Given the description of an element on the screen output the (x, y) to click on. 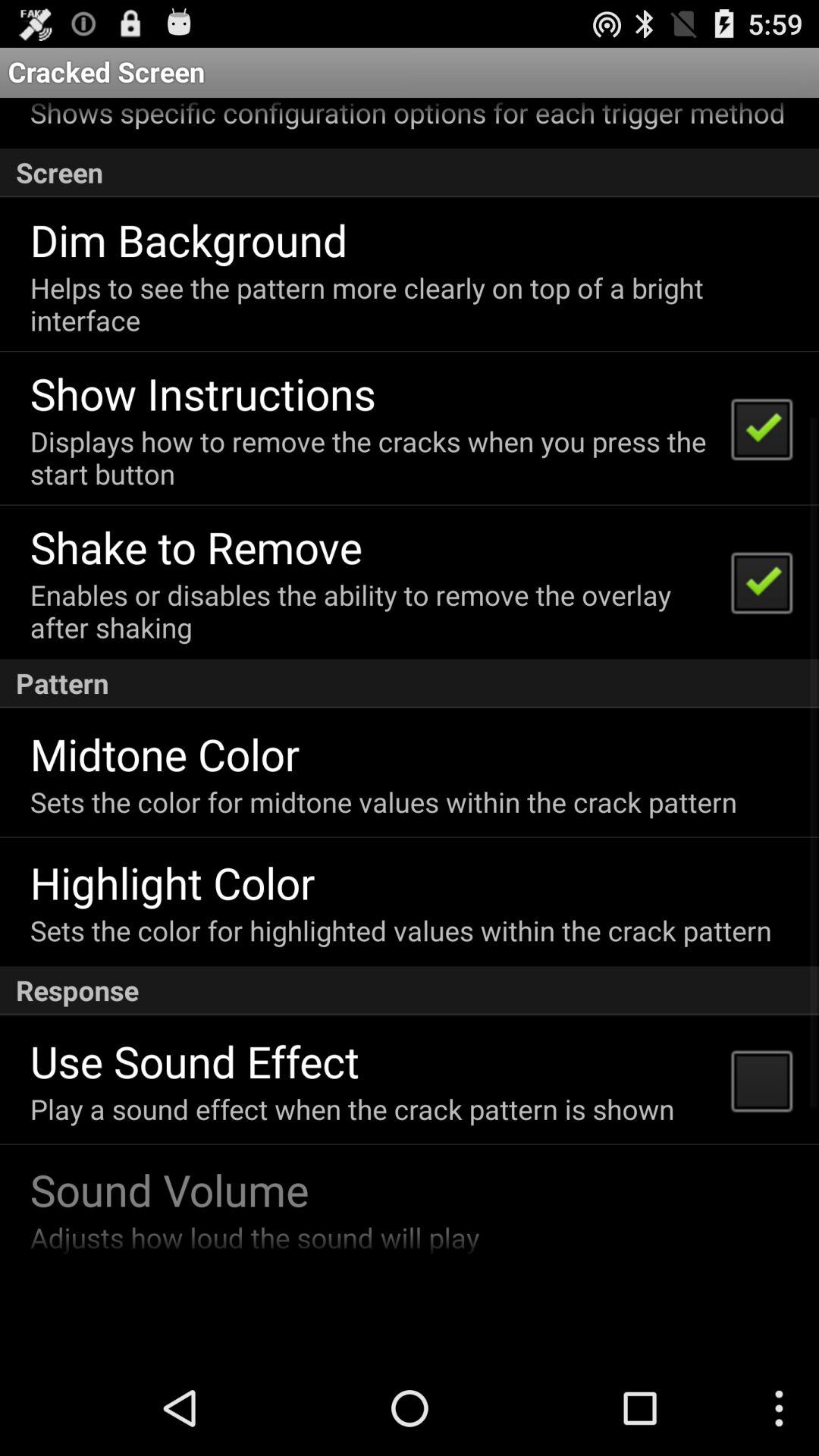
launch the icon below the sets the color (172, 882)
